Given the description of an element on the screen output the (x, y) to click on. 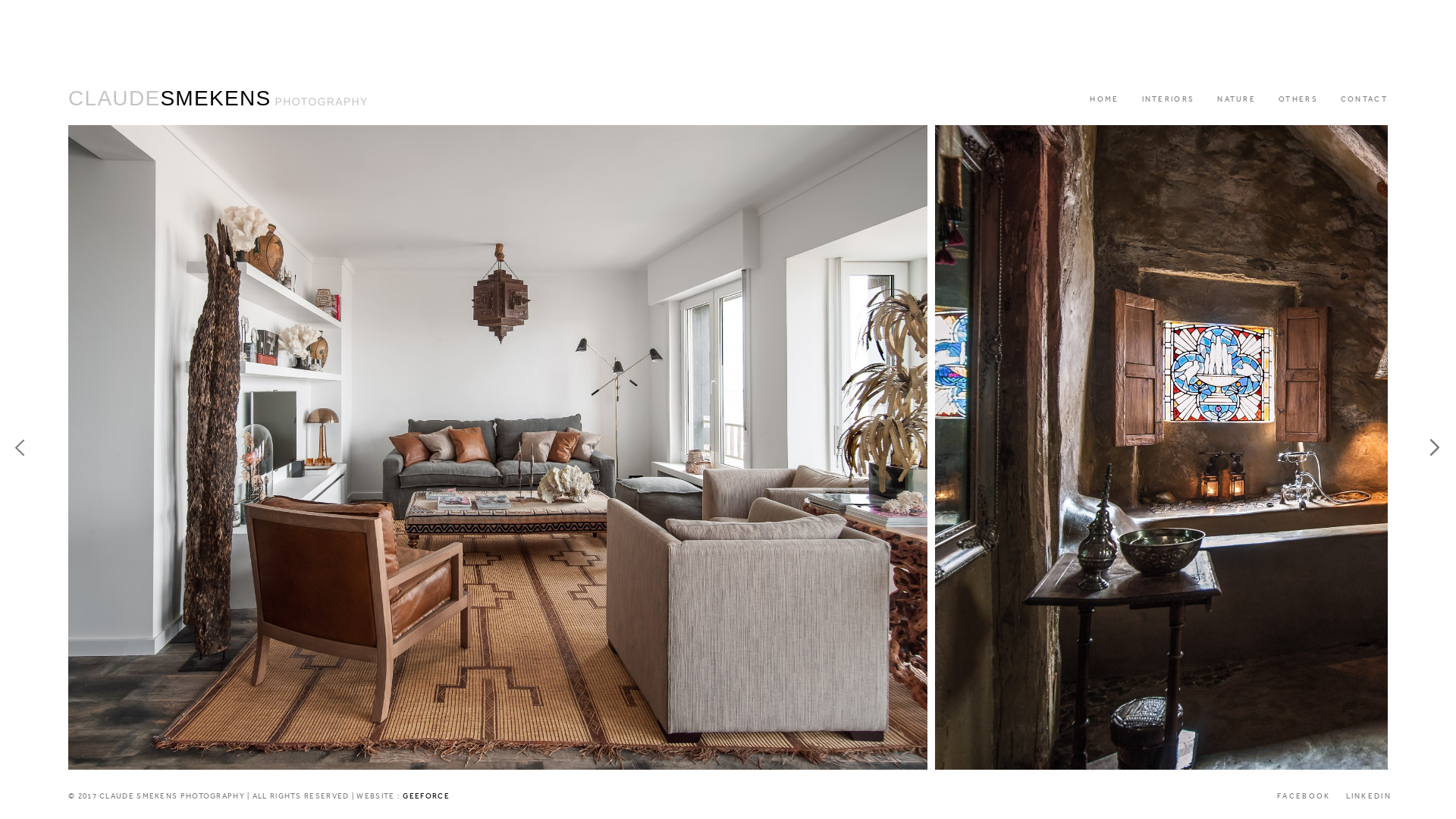
NATURE Element type: text (1236, 99)
CLAUDESMEKENS PHOTOGRAPHY Element type: text (218, 98)
CONTACT Element type: text (1364, 99)
INTERIORS Element type: text (1168, 99)
HOME Element type: text (1103, 99)
GEEFORCE Element type: text (425, 795)
OTHERS Element type: text (1298, 99)
